Given the description of an element on the screen output the (x, y) to click on. 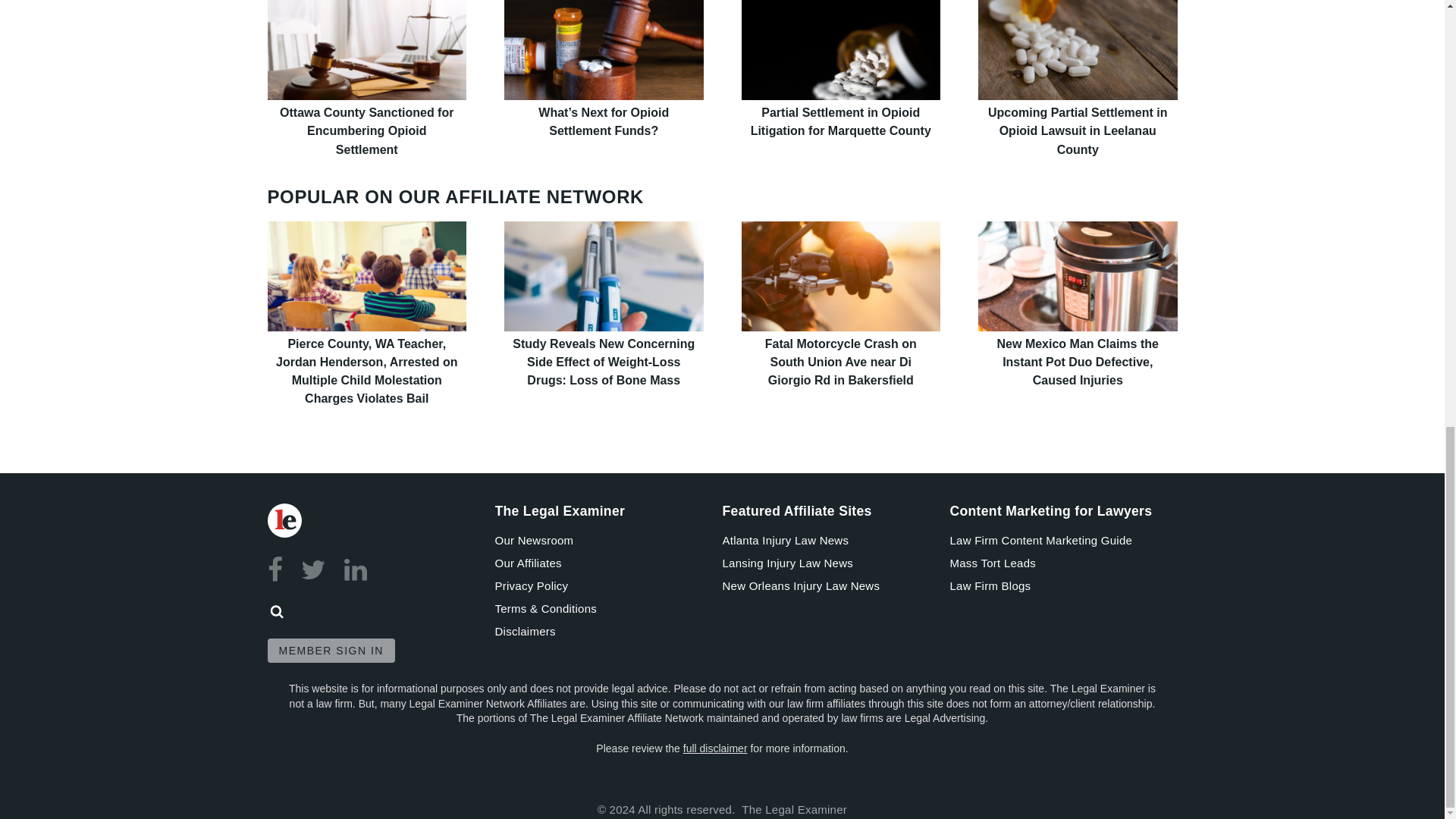
Partial Settlement in Opioid Litigation for Marquette County (840, 49)
Ottawa County Sanctioned for Encumbering Opioid Settlement (365, 49)
Ottawa County Sanctioned for Encumbering Opioid Settlement (365, 130)
Legal Examiner on Twitter (313, 569)
